Given the description of an element on the screen output the (x, y) to click on. 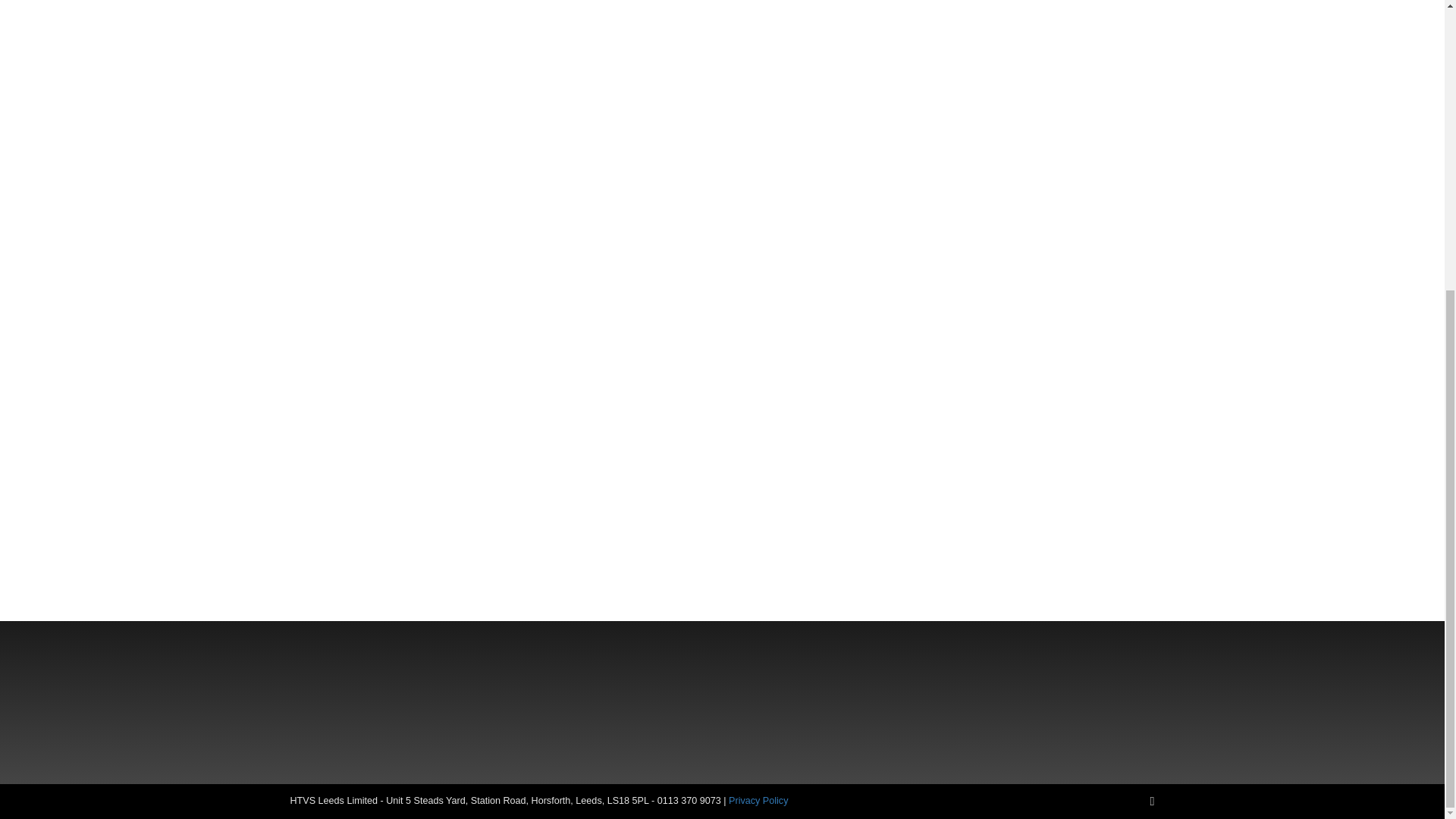
Call me back! (389, 164)
Go! (455, 551)
